Given the description of an element on the screen output the (x, y) to click on. 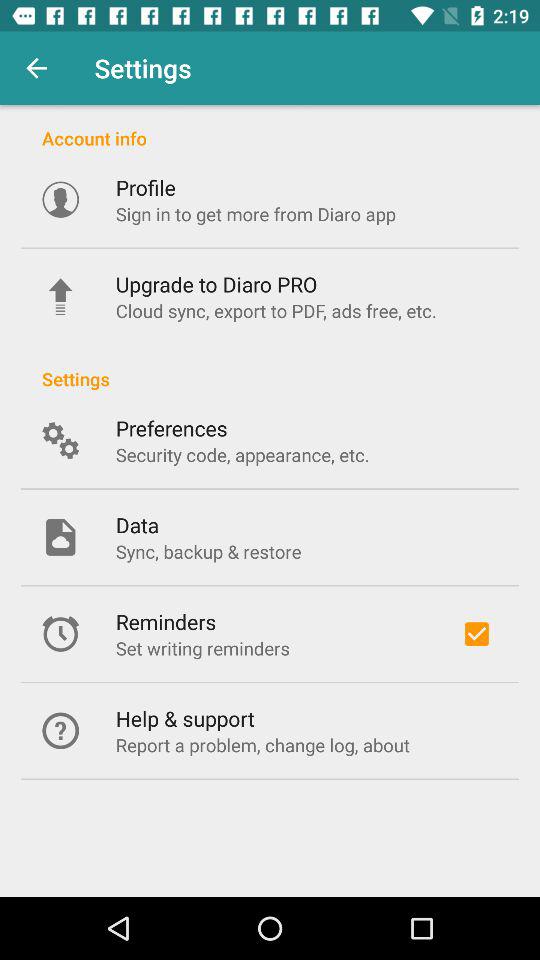
tap the icon below the settings icon (171, 428)
